Given the description of an element on the screen output the (x, y) to click on. 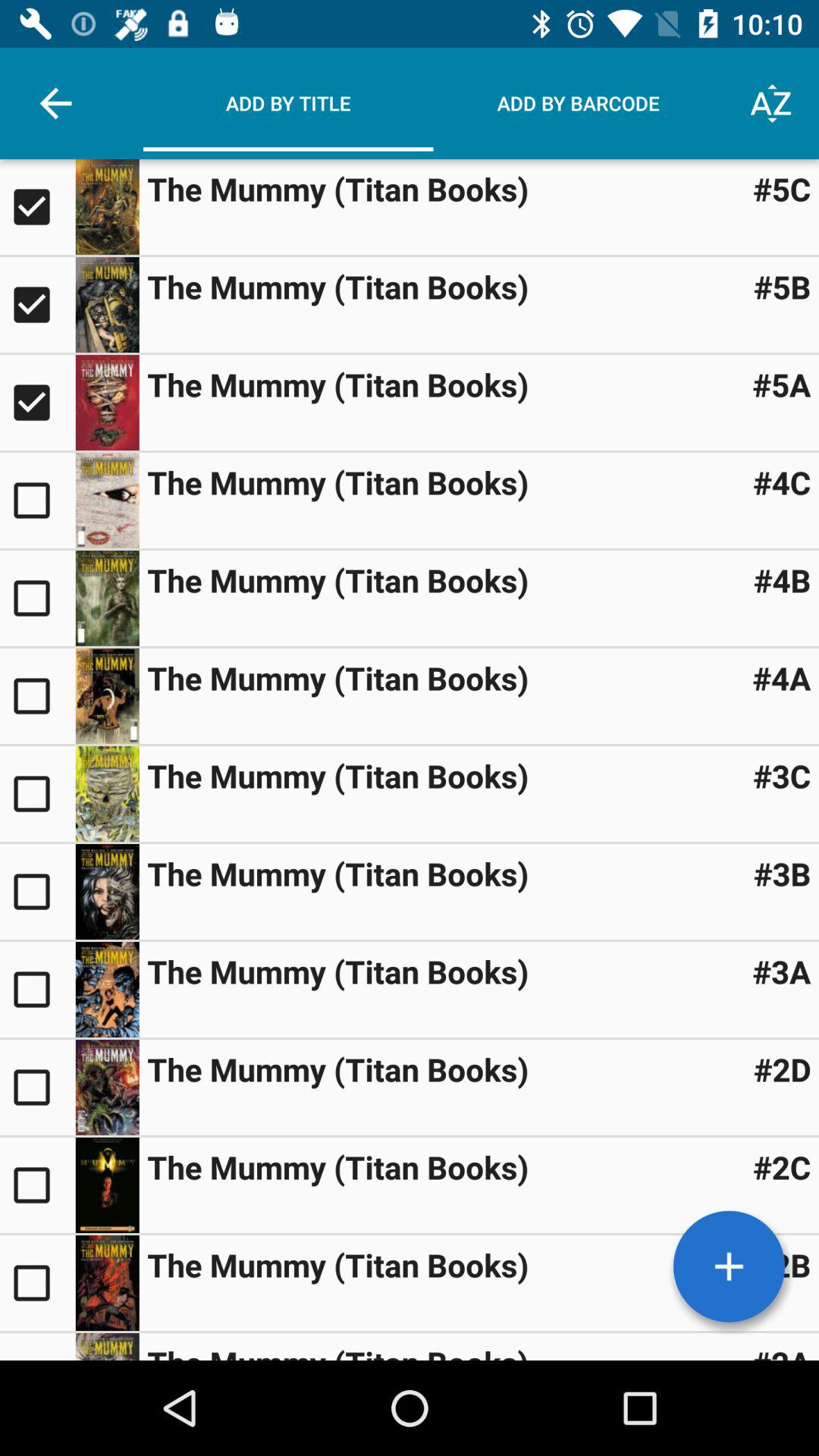
open the item (107, 500)
